Given the description of an element on the screen output the (x, y) to click on. 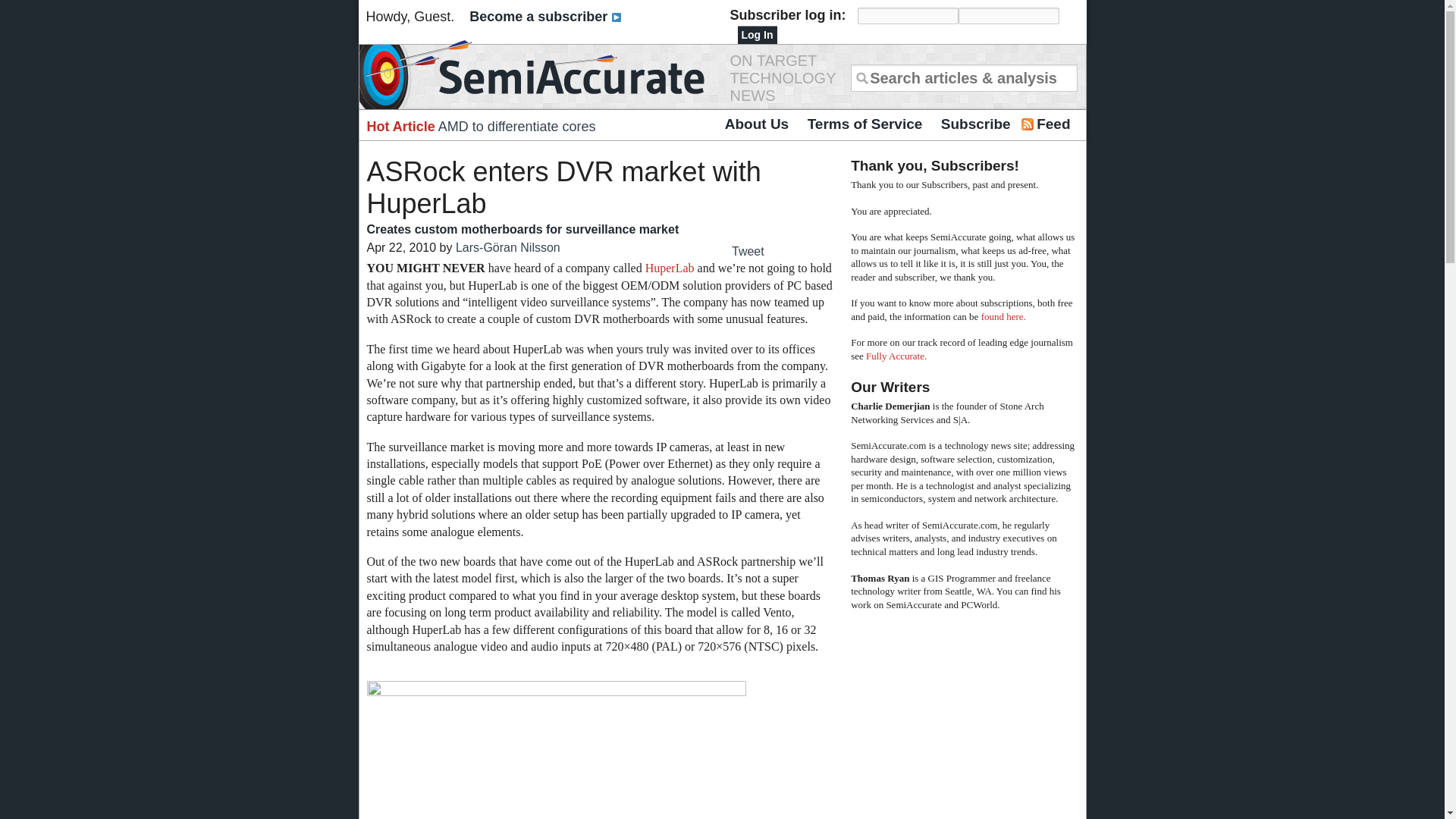
AMD to differentiate cores (516, 126)
Feed (1053, 123)
Become a subscriber (544, 16)
SemiAccurate (538, 74)
HuperLab (669, 267)
Terms of Service (864, 123)
Subscribe (975, 123)
Tweet (748, 250)
SemiAccurate (538, 74)
Log In (756, 34)
About Us (756, 123)
found here. (1003, 316)
Fully Accurate. (896, 355)
Log In (756, 34)
Permalink to AMD to differentiate cores (516, 126)
